Given the description of an element on the screen output the (x, y) to click on. 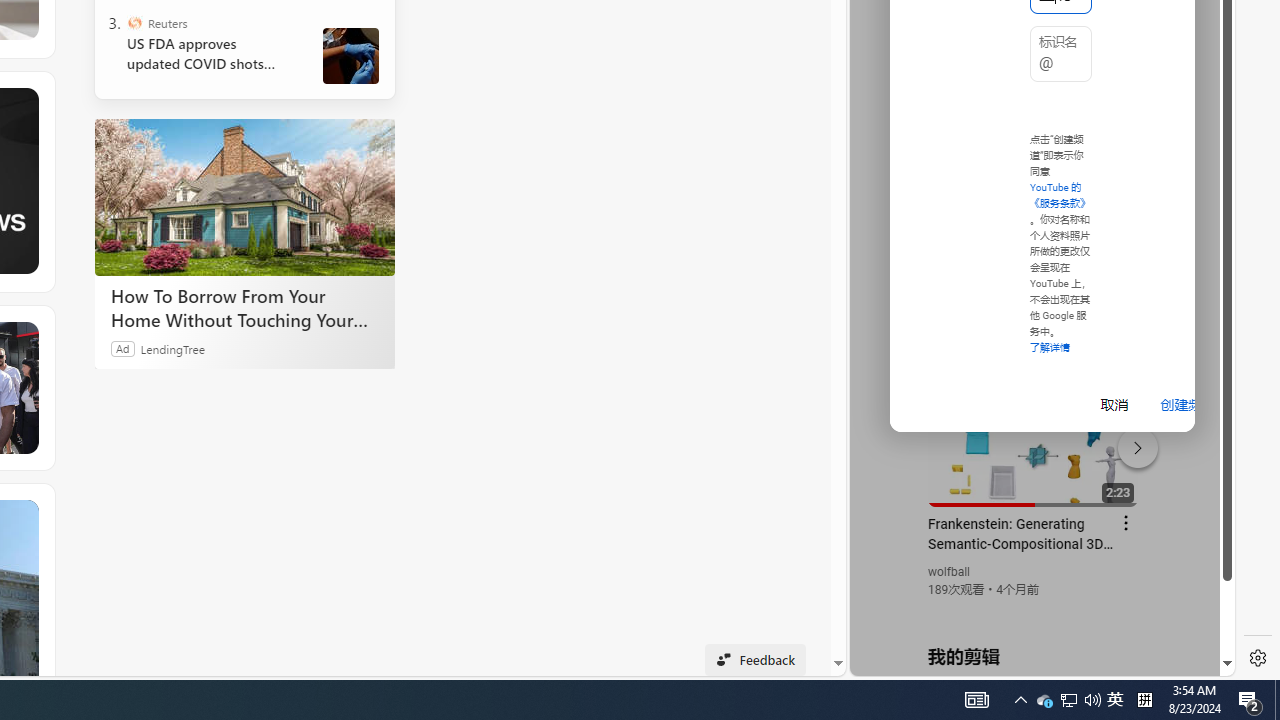
#you (1034, 439)
wolfball (949, 572)
Reuters (134, 22)
US FDA approves updated COVID shots ahead of fall and winter (208, 53)
Actions for this site (1131, 443)
